Given the description of an element on the screen output the (x, y) to click on. 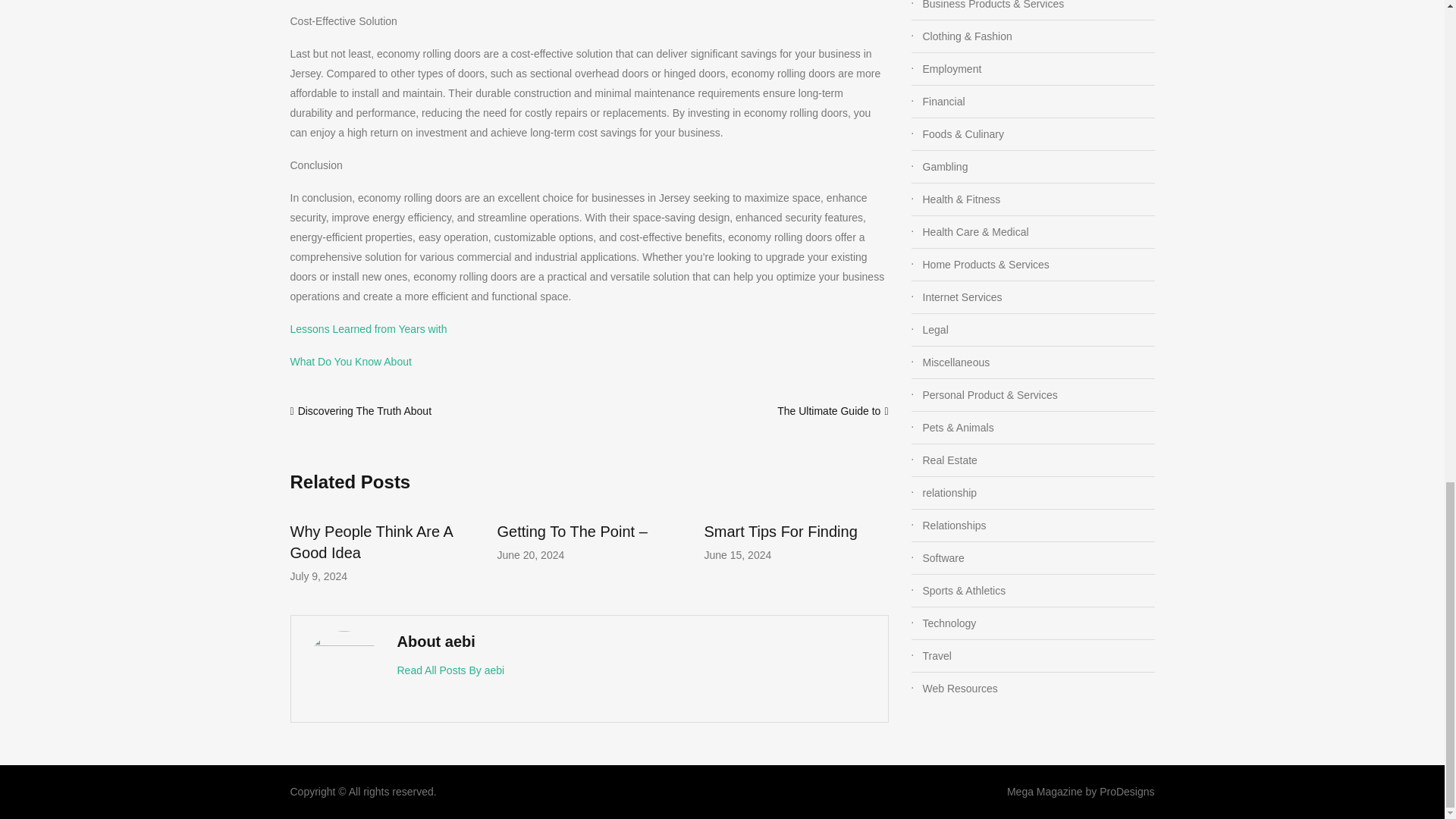
Discovering The Truth About (364, 410)
Read All Posts By aebi (451, 670)
The Ultimate Guide to (828, 410)
What Do You Know About (349, 361)
Lessons Learned from Years with (367, 328)
Why People Think Are A Good Idea (370, 542)
Smart Tips For Finding (780, 531)
